Given the description of an element on the screen output the (x, y) to click on. 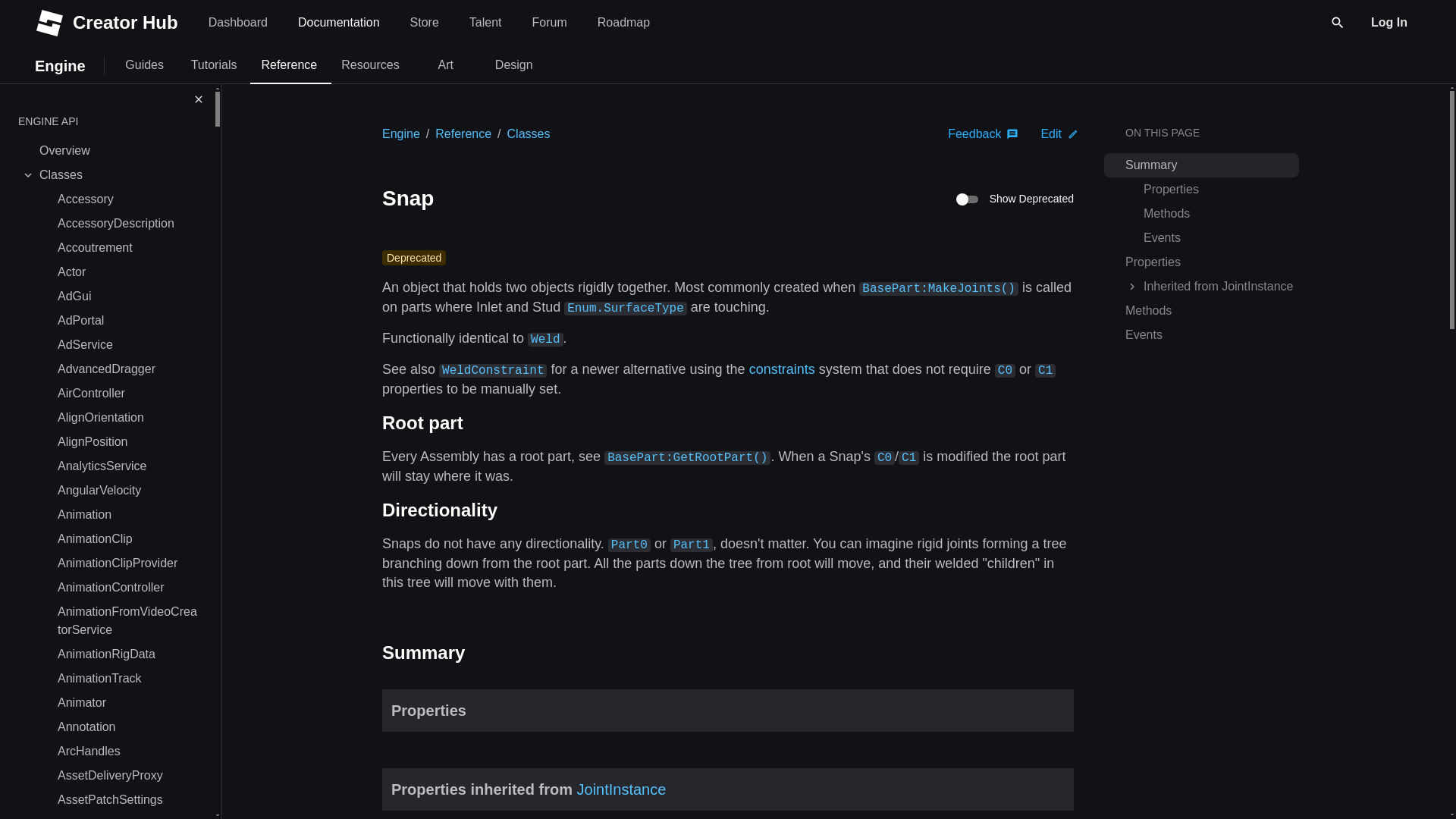
Actor (127, 272)
ArcHandles (127, 751)
Animation (127, 514)
AdPortal (127, 320)
Store (424, 22)
Overview (118, 150)
Dashboard (237, 22)
Resources (369, 64)
AnimationTrack (127, 678)
AnimationFromVideoCreatorService (127, 620)
AdvancedDragger (127, 369)
AdService (127, 344)
AngularVelocity (127, 490)
AnimationController (127, 587)
AdGui (127, 296)
